Given the description of an element on the screen output the (x, y) to click on. 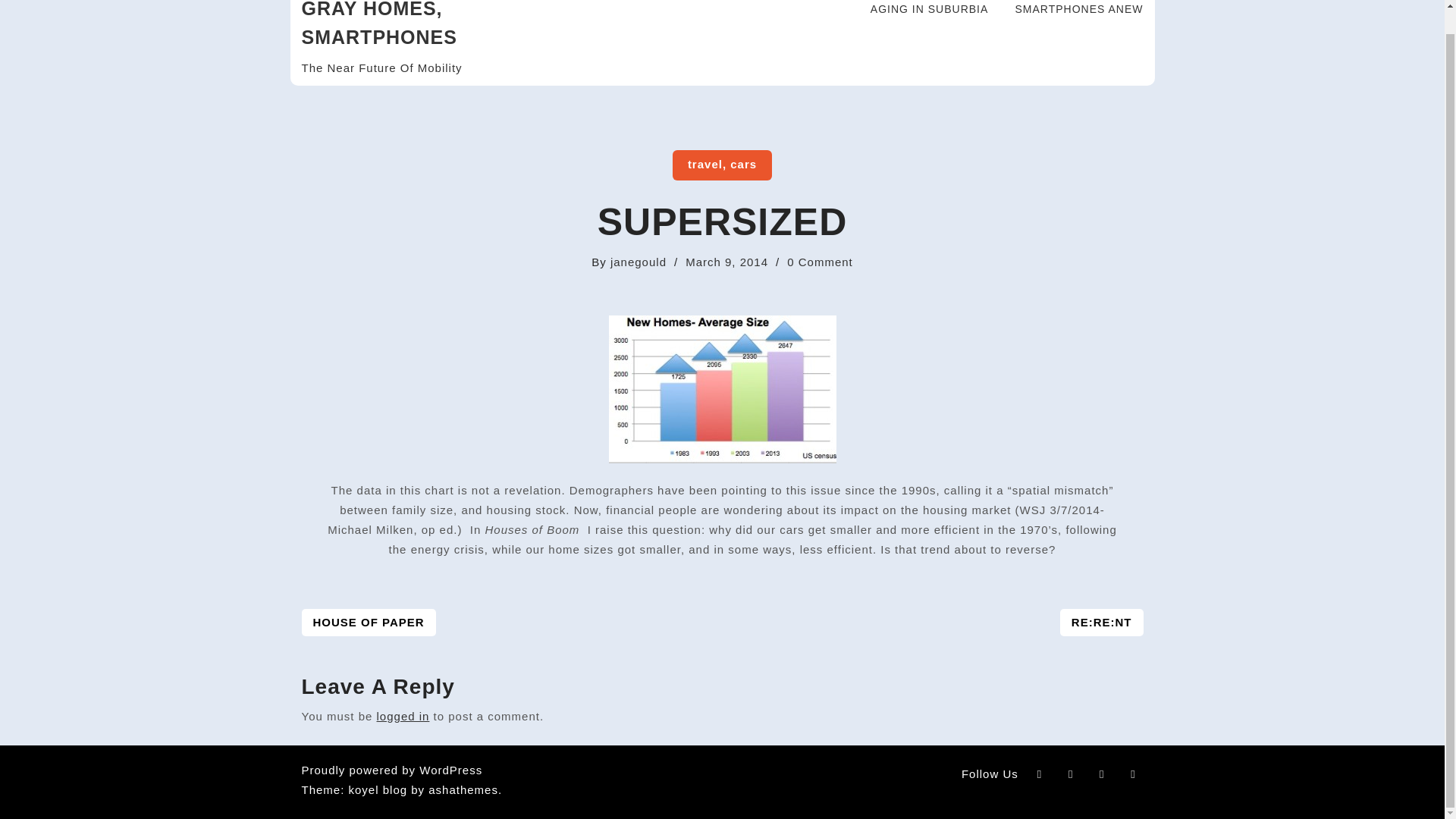
AGING IN SUBURBIA (919, 16)
RE:RE:NT (1100, 622)
GRAY HOMES, SMARTPHONES (379, 23)
Proudly powered by WordPress (820, 261)
janegould (392, 769)
travel, cars (638, 261)
HOUSE OF PAPER (721, 164)
logged in (368, 622)
March 9, 2014 (403, 716)
